Given the description of an element on the screen output the (x, y) to click on. 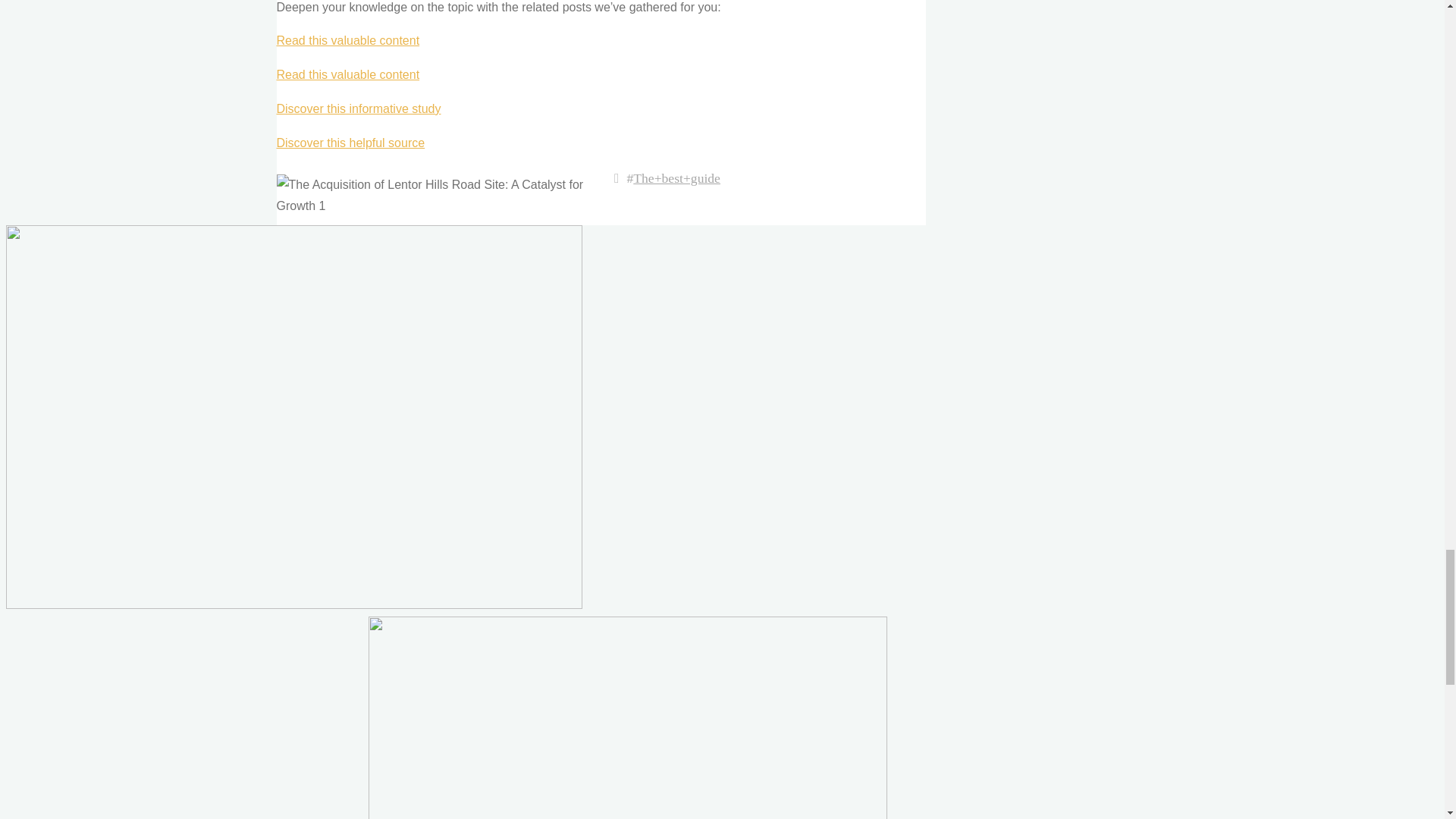
Discover this informative study (358, 108)
Read this valuable content (347, 74)
Read this valuable content (347, 40)
Tagged (616, 177)
Discover this helpful source (350, 142)
